Given the description of an element on the screen output the (x, y) to click on. 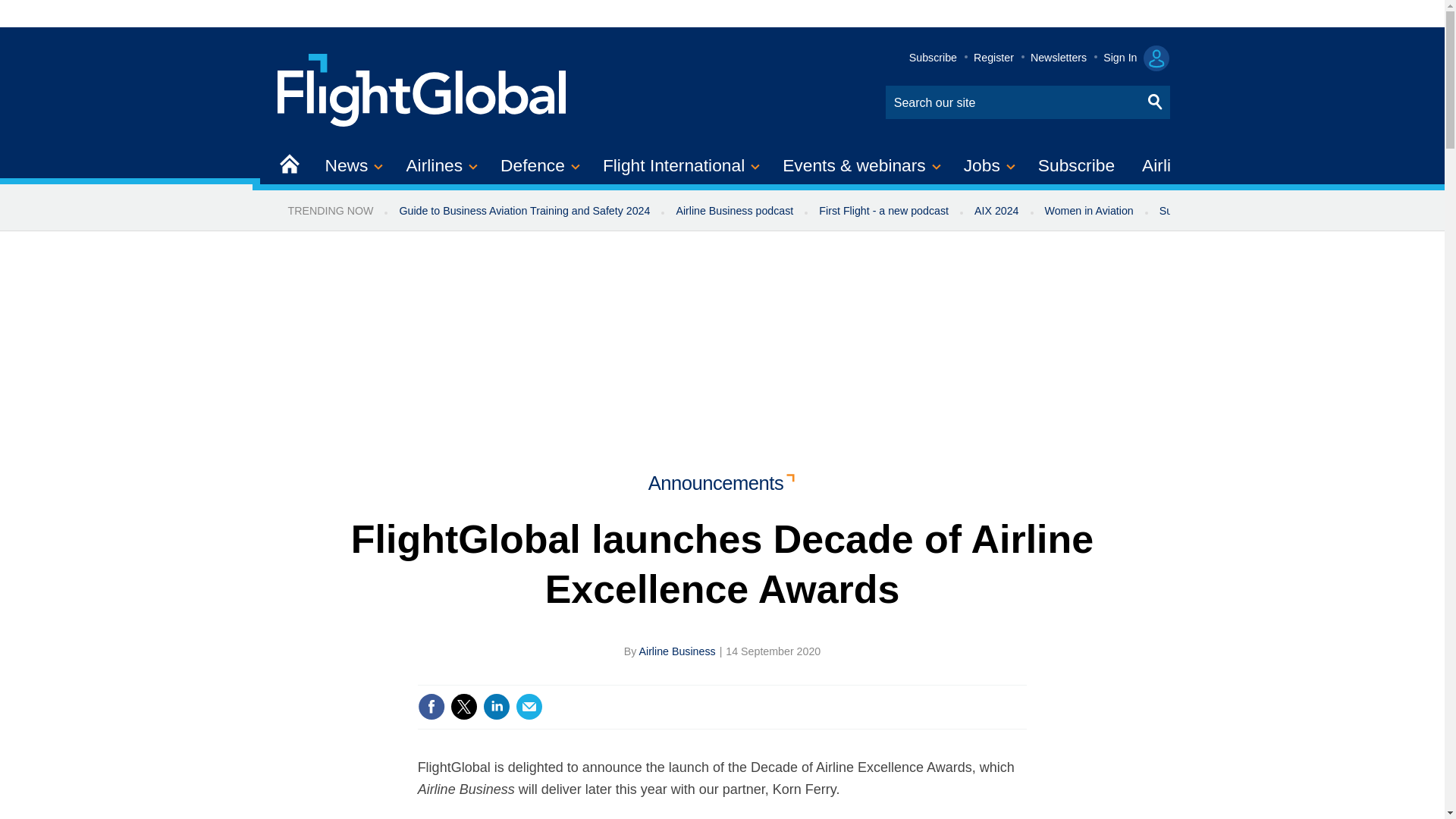
Sustainable Aviation newsletter (1234, 210)
Share this on Linked in (497, 706)
AIX 2024 (996, 210)
Airline Business podcast (734, 210)
First Flight - a new podcast (883, 210)
Site name (422, 88)
Share this on Facebook (431, 706)
Email this article (529, 706)
